Given the description of an element on the screen output the (x, y) to click on. 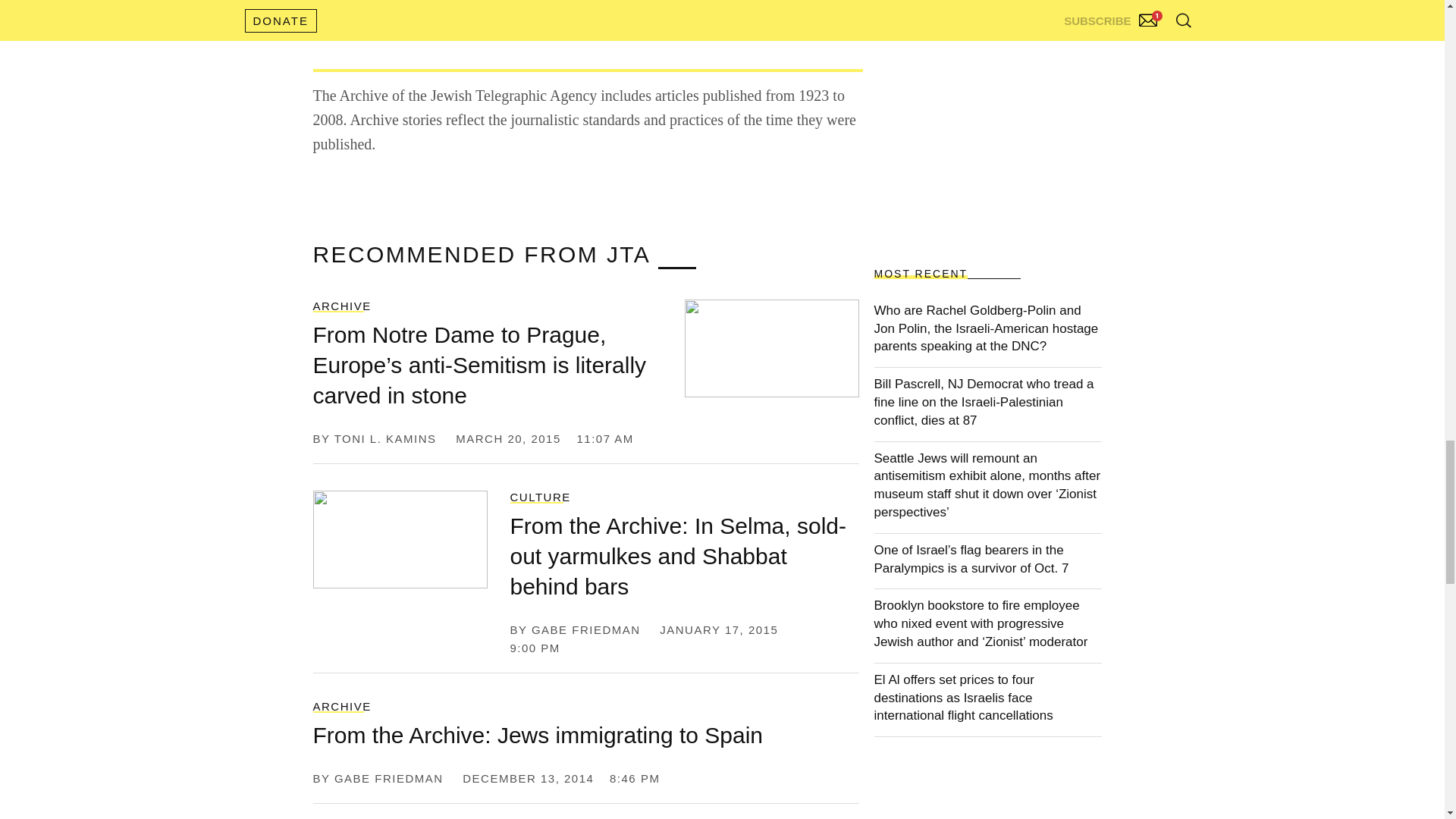
Click to email a link to a friend (577, 3)
Click to share on WhatsApp (503, 3)
Click to share on Twitter (343, 3)
Click to share on Facebook (419, 3)
